Given the description of an element on the screen output the (x, y) to click on. 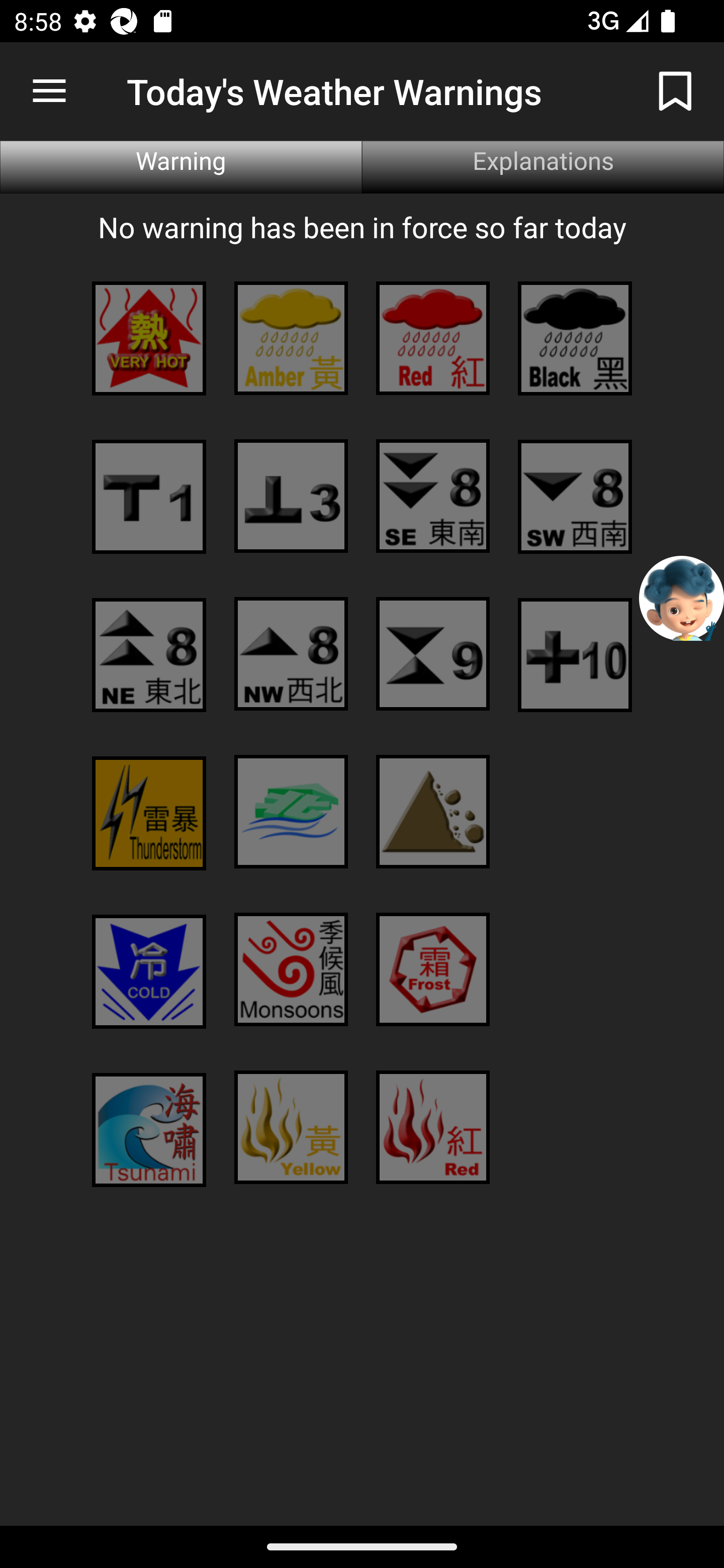
Navigate up (49, 91)
Bookmark not added (674, 90)
Warning (181, 166)
Explanations (543, 166)
Chatbot (681, 598)
